Given the description of an element on the screen output the (x, y) to click on. 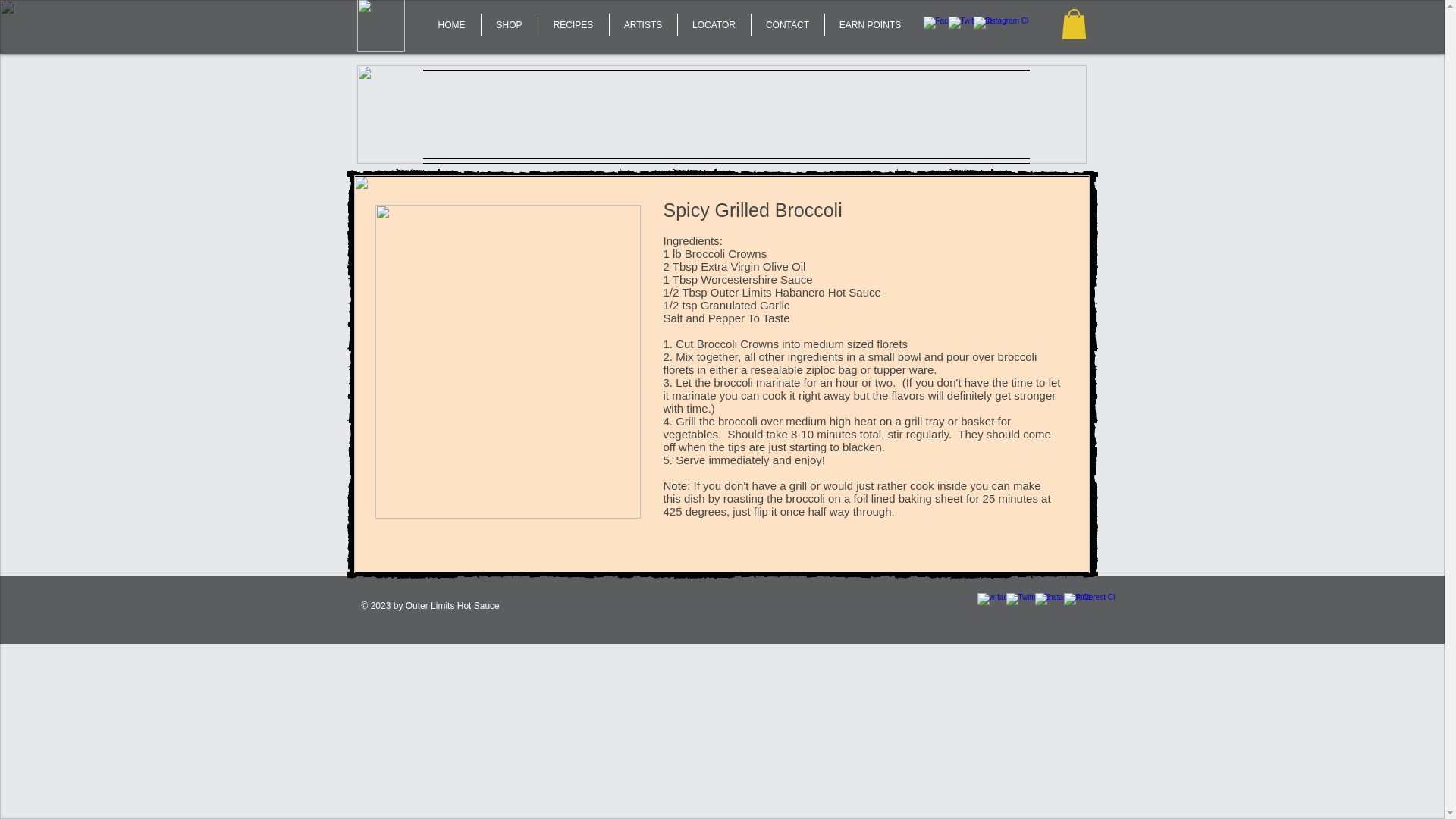
CONTACT (787, 24)
RECIPES (573, 24)
Pin to Pinterest (905, 225)
Log In (431, 202)
HOME (451, 24)
LOCATOR (714, 24)
SHOP (508, 24)
EARN POINTS (870, 24)
ARTISTS (643, 24)
